Given the description of an element on the screen output the (x, y) to click on. 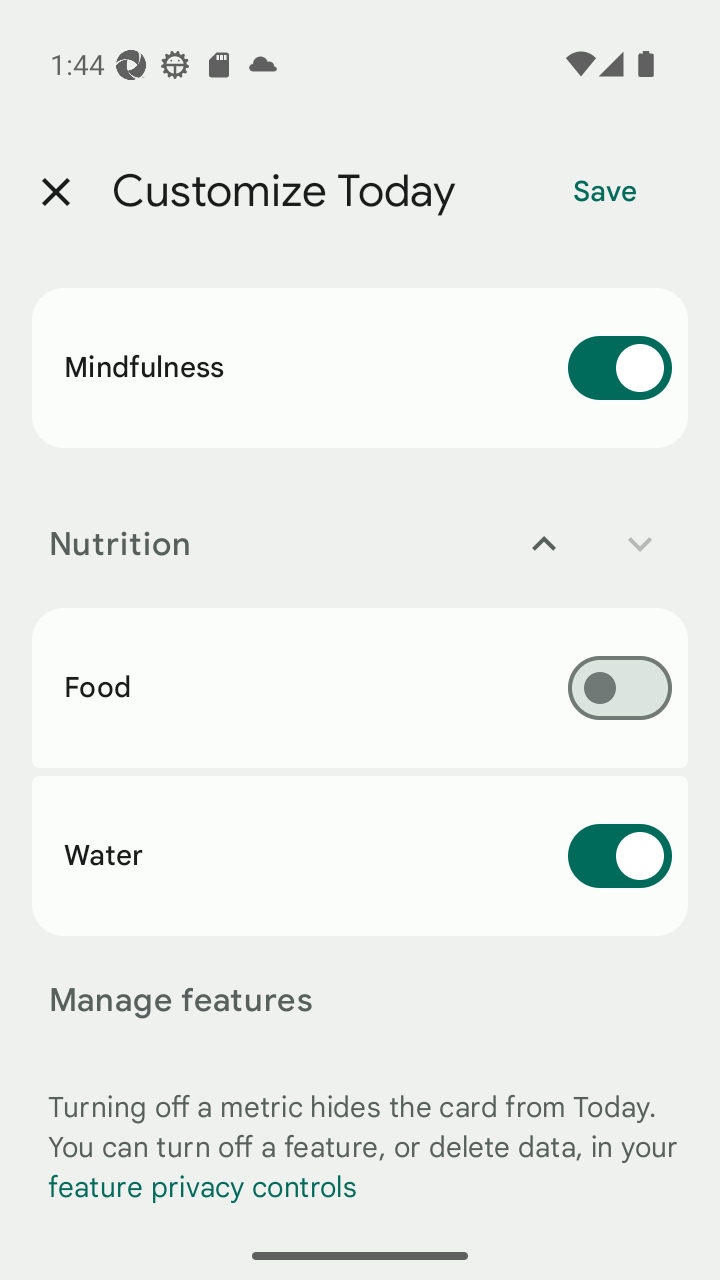
Close (55, 191)
Save (605, 191)
Mindfulness (359, 368)
Move Nutrition up (543, 543)
Move Nutrition down (639, 543)
Food (359, 688)
Water (359, 855)
